Given the description of an element on the screen output the (x, y) to click on. 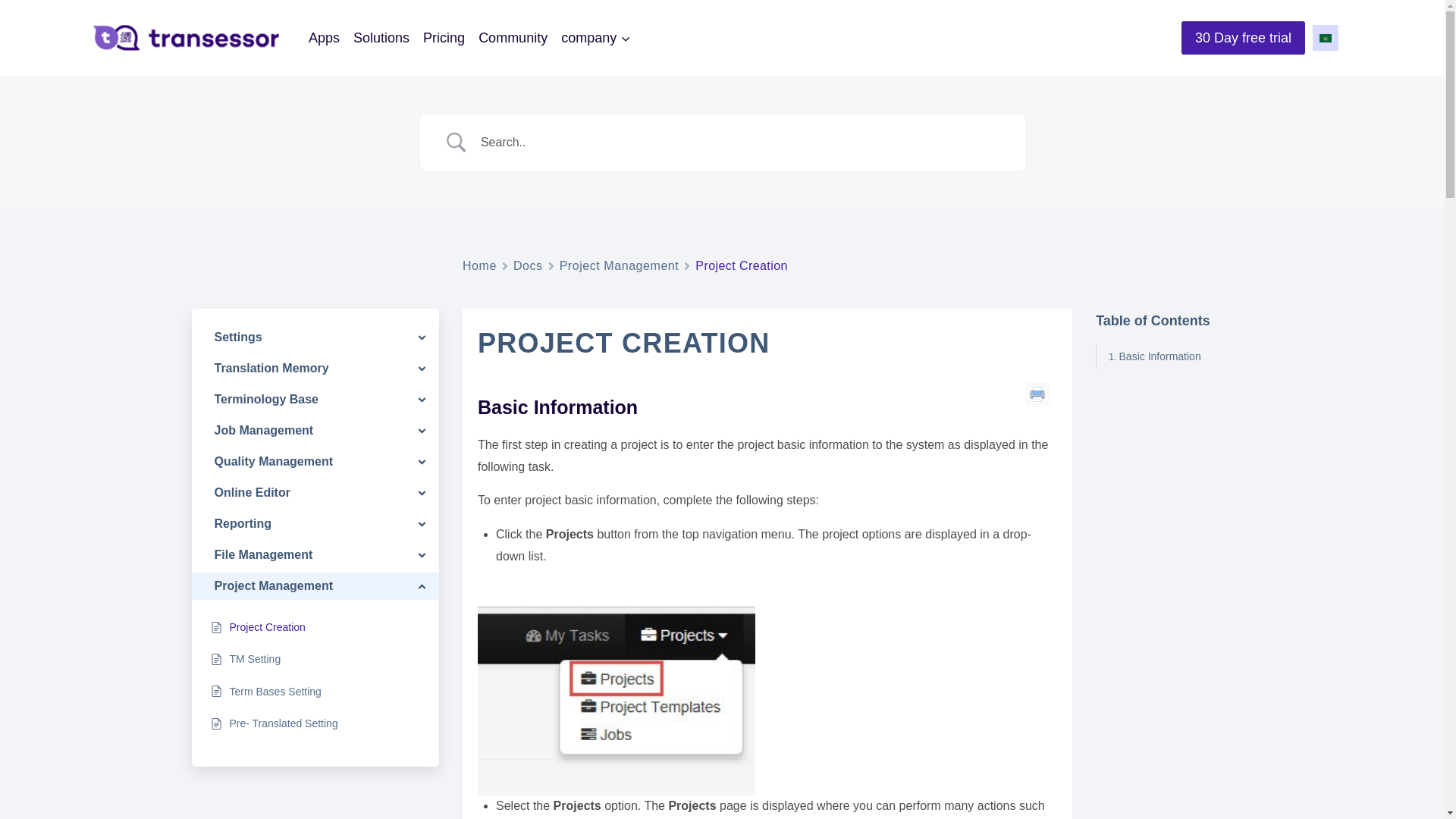
Apps (323, 37)
Home (479, 265)
Project Management (619, 265)
Solutions (381, 37)
Community (512, 37)
company (595, 37)
Docs (528, 265)
Pricing (443, 37)
30 Day free trial (1242, 37)
